Given the description of an element on the screen output the (x, y) to click on. 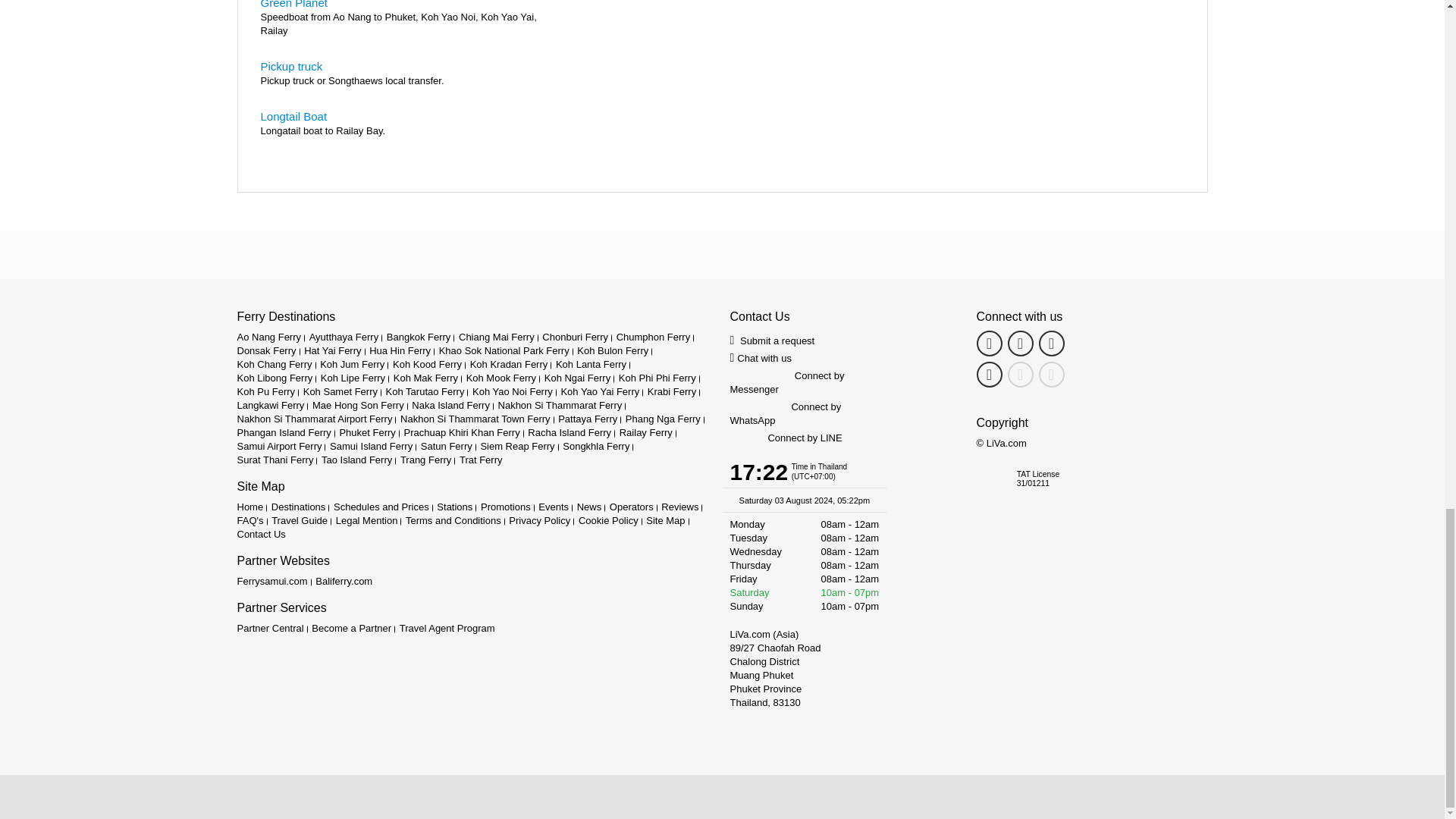
www.baliferry.com (343, 580)
www.ferrysamui.com (271, 580)
